Given the description of an element on the screen output the (x, y) to click on. 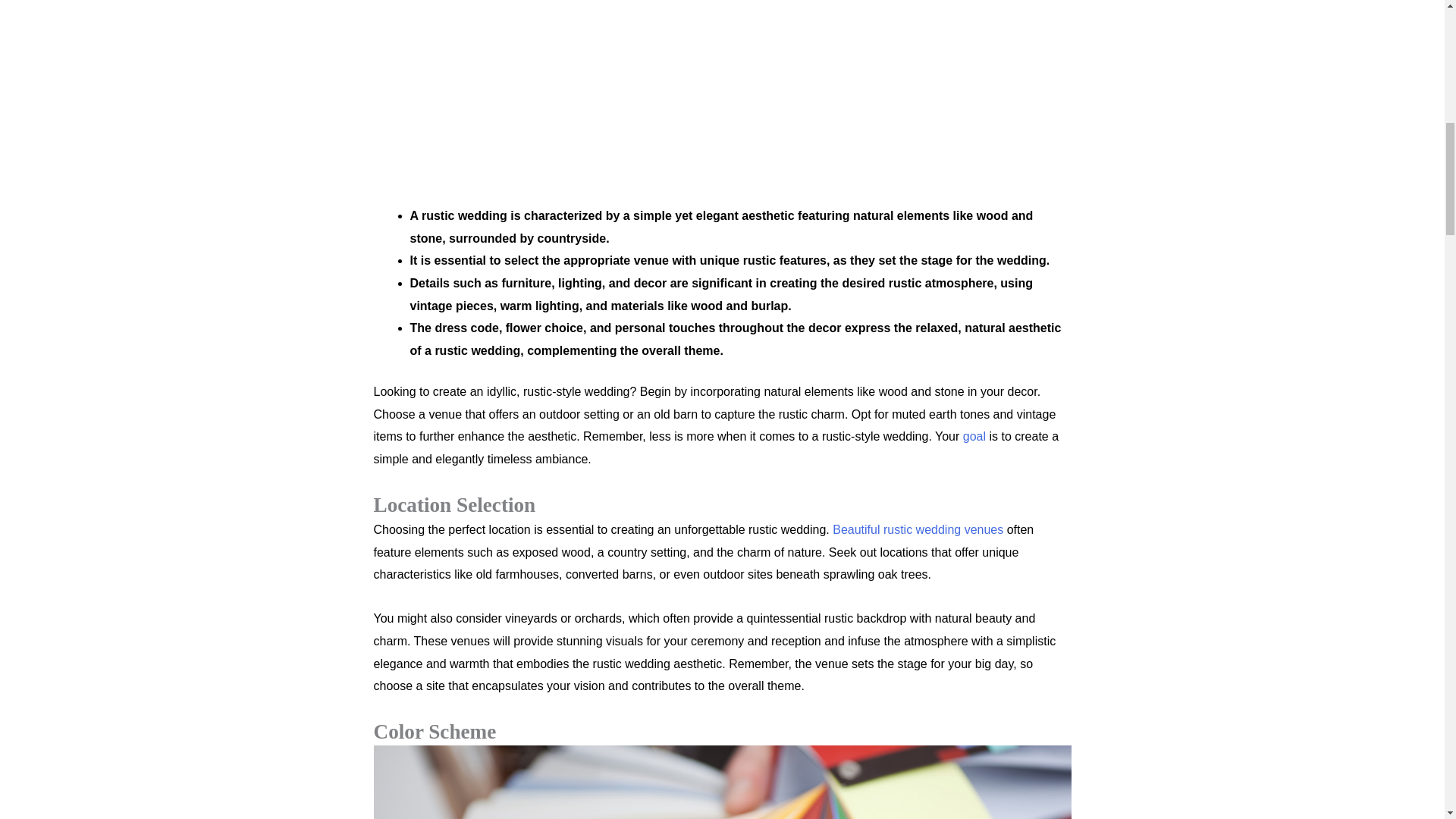
Beautiful rustic wedding venues (917, 529)
Color Swatches (721, 782)
goal (973, 436)
